Given the description of an element on the screen output the (x, y) to click on. 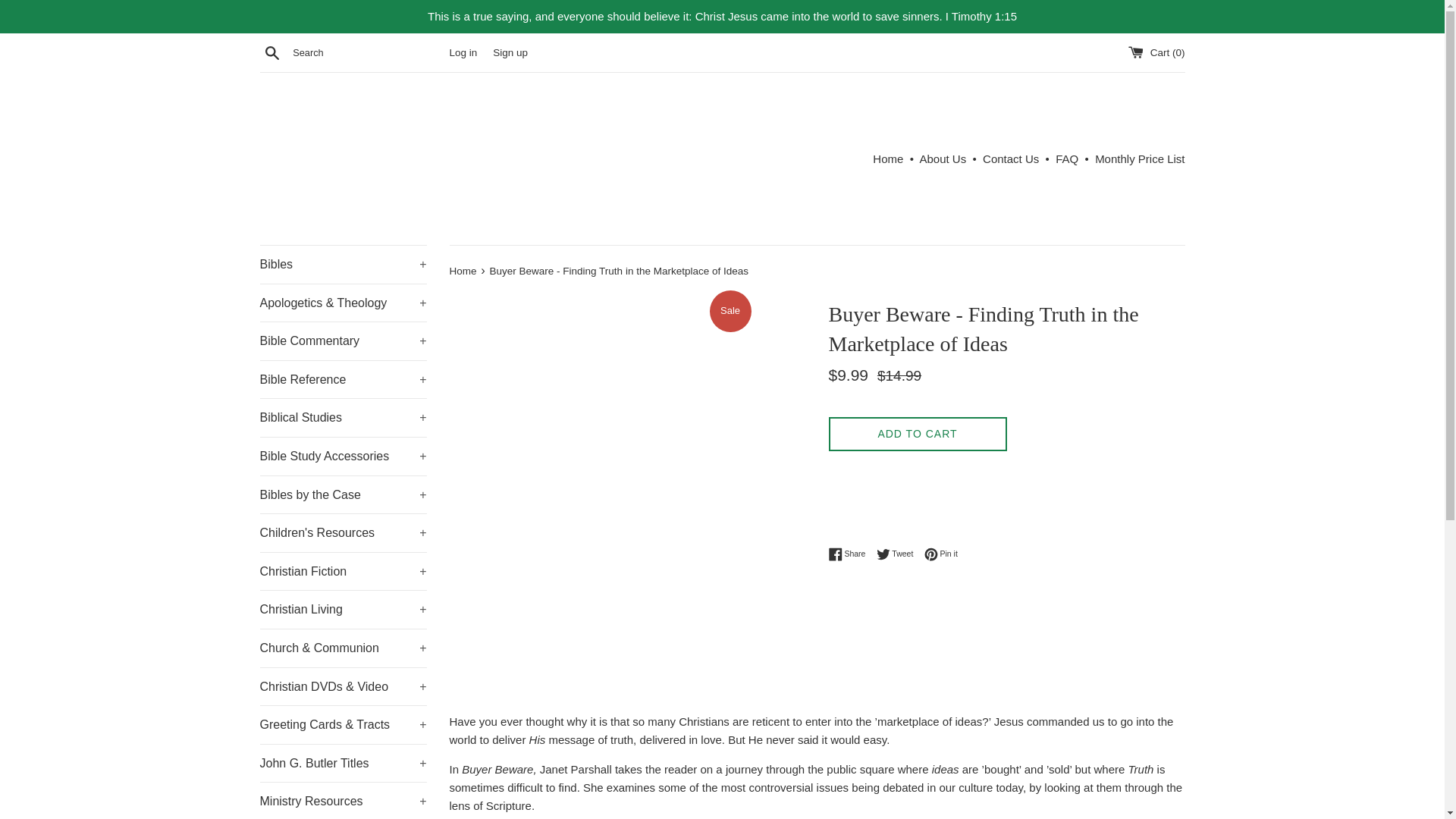
Pin on Pinterest (941, 554)
Share on Facebook (850, 554)
About Us (942, 158)
Contact Us (1010, 158)
Tweet on Twitter (898, 554)
Back to the frontpage (463, 270)
Search (271, 52)
Monthly Price List (1139, 158)
FAQ (1066, 158)
Home (887, 158)
Sign up (510, 52)
Log in (462, 52)
